Given the description of an element on the screen output the (x, y) to click on. 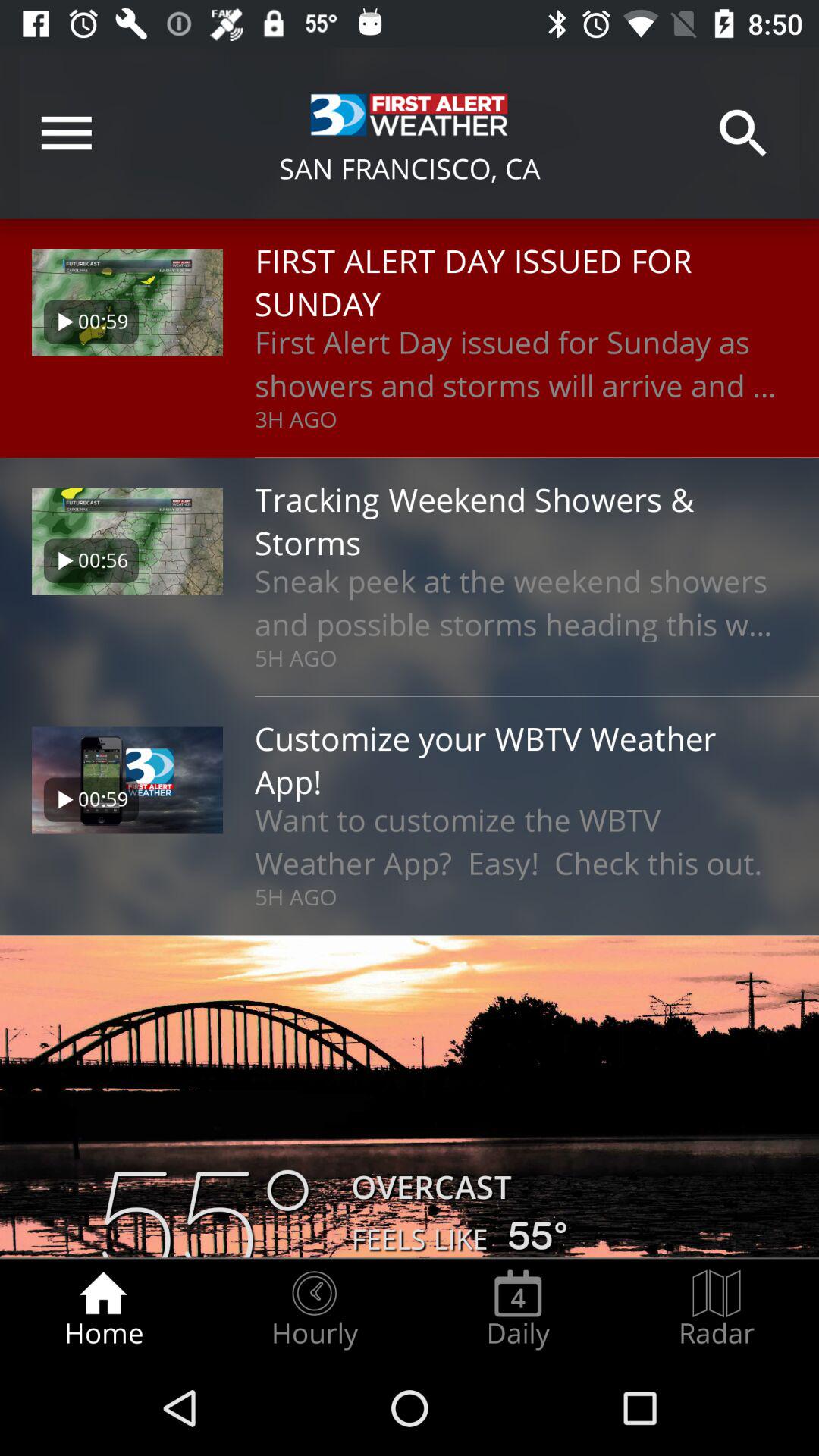
turn off daily radio button (518, 1309)
